Given the description of an element on the screen output the (x, y) to click on. 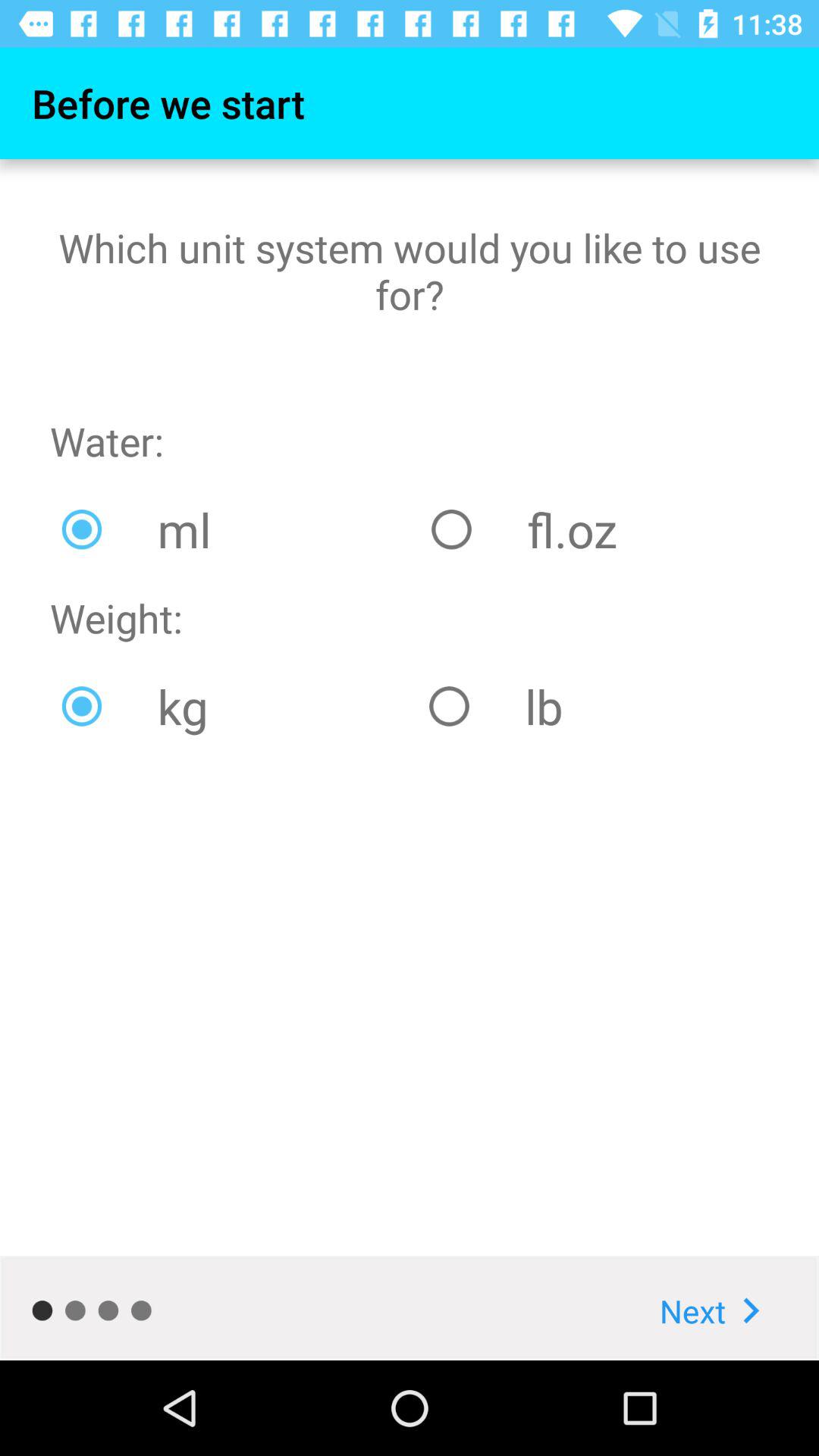
tap the icon above weight: icon (234, 529)
